Given the description of an element on the screen output the (x, y) to click on. 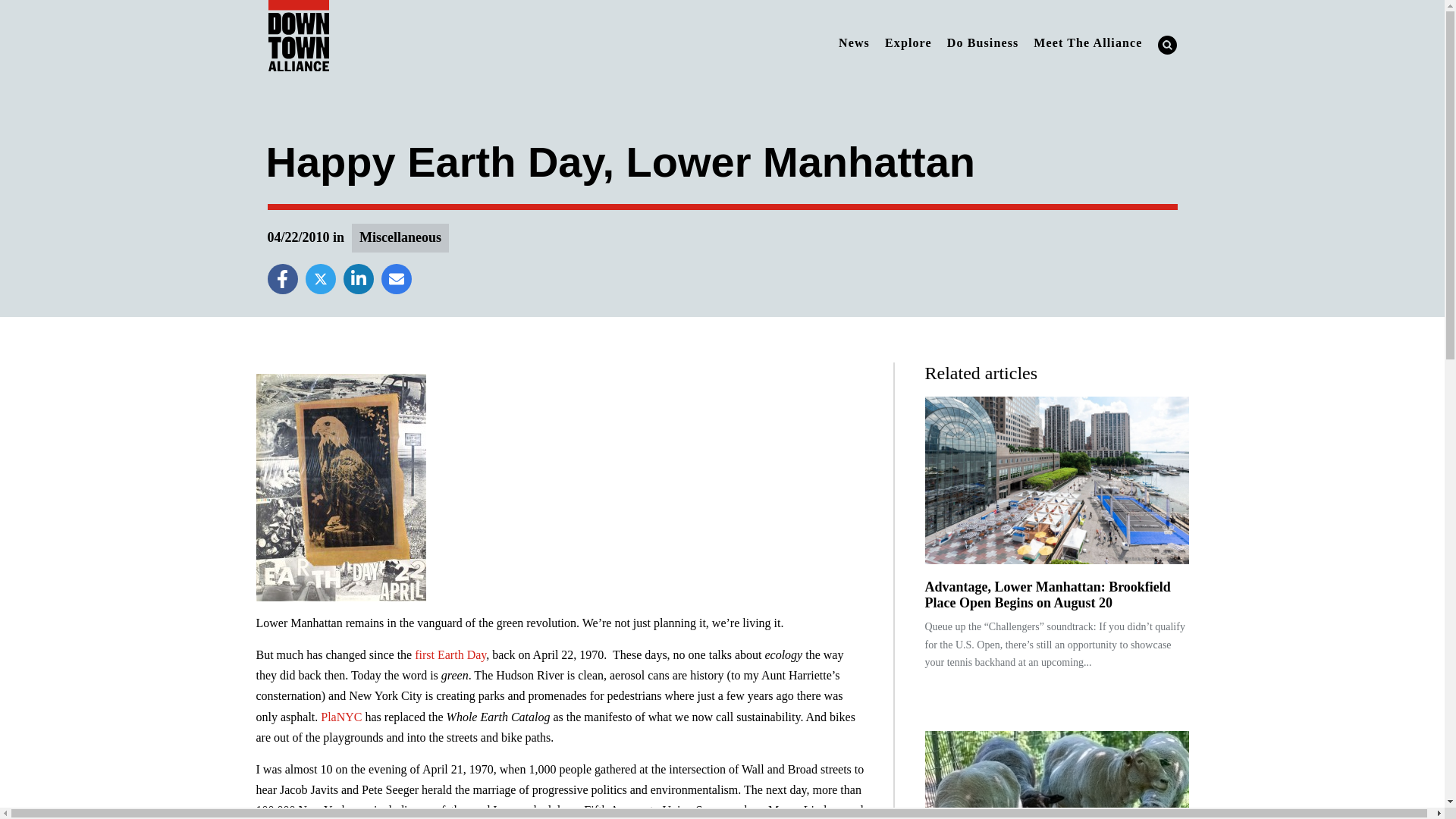
Meet The Alliance (1087, 42)
Explore (908, 42)
Do Business (983, 42)
News (853, 42)
